Given the description of an element on the screen output the (x, y) to click on. 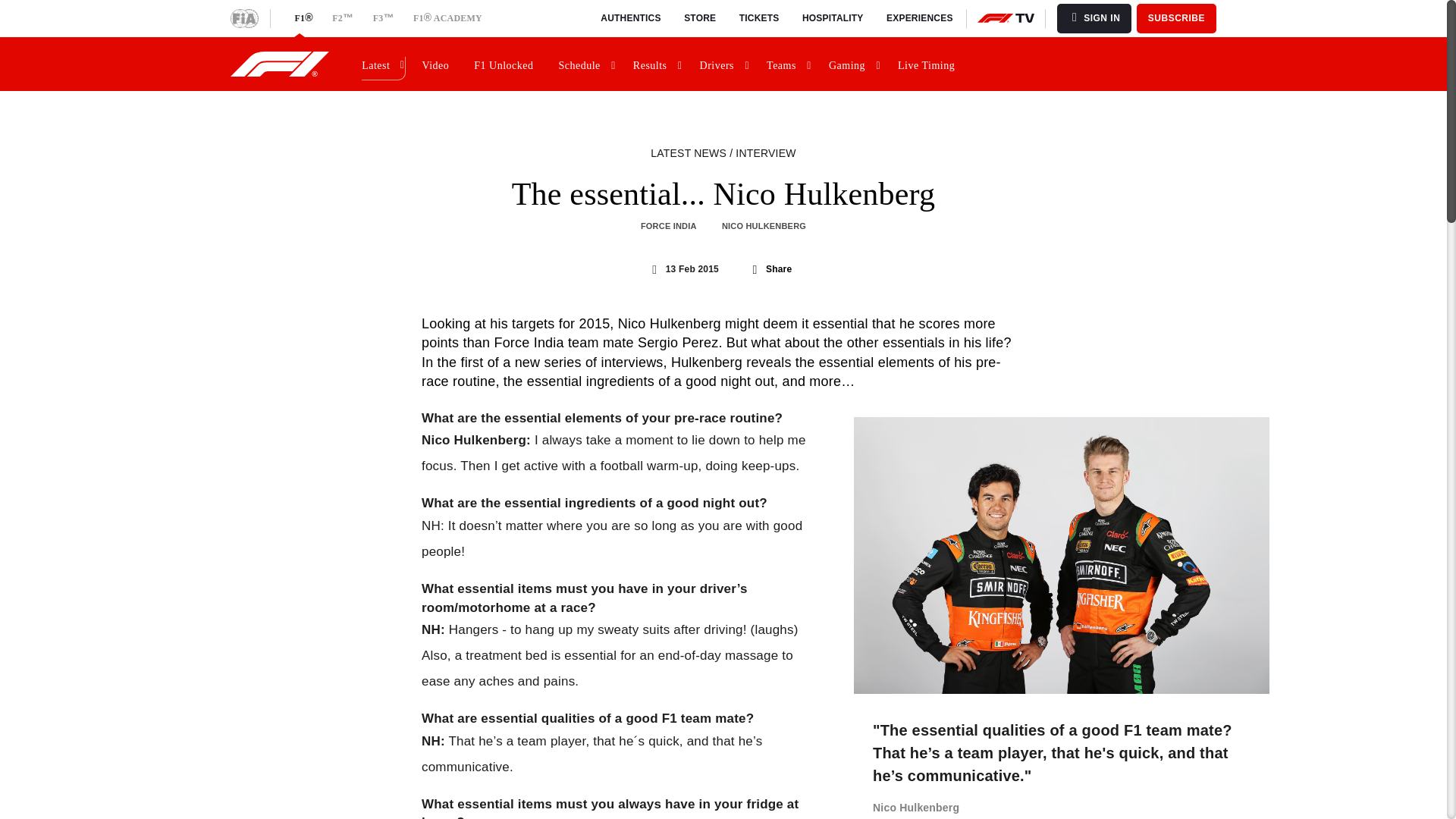
F1 Unlocked (506, 63)
Results (656, 63)
Latest (382, 63)
Video (438, 63)
Schedule (585, 63)
Facebook (752, 269)
Twitter (729, 269)
